Given the description of an element on the screen output the (x, y) to click on. 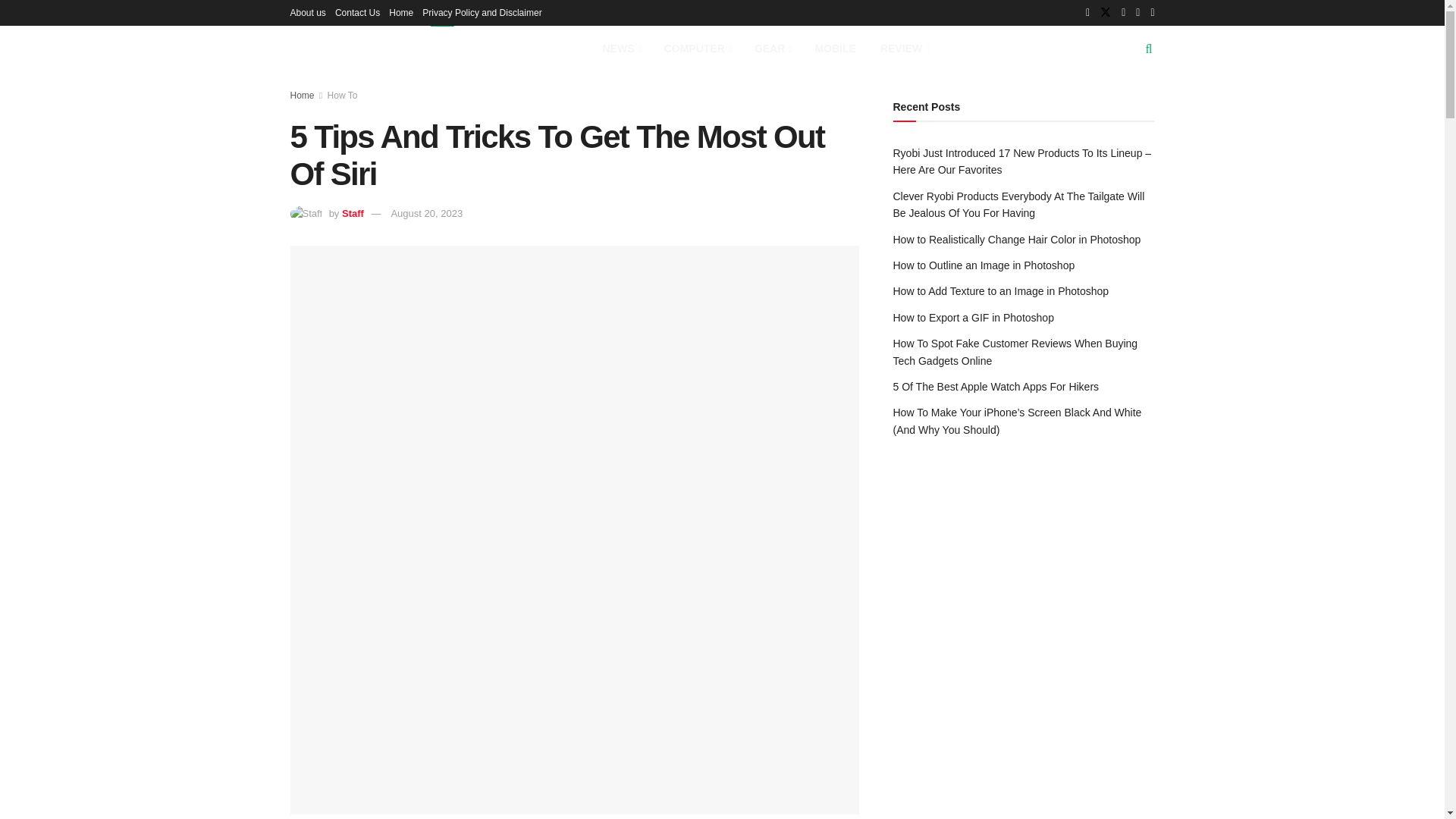
GEAR (772, 48)
Home (400, 12)
NEWS (619, 48)
COMPUTER (697, 48)
About us (306, 12)
Contact Us (357, 12)
Privacy Policy and Disclaimer (481, 12)
